Given the description of an element on the screen output the (x, y) to click on. 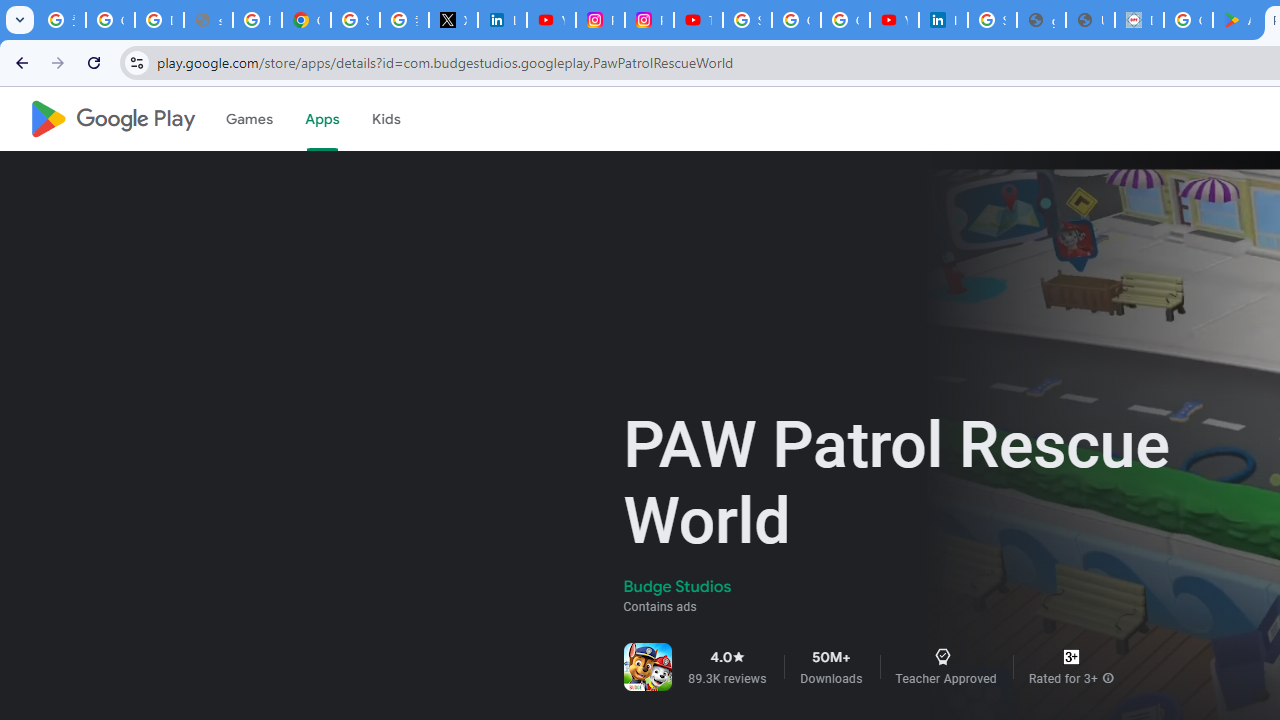
Android Apps on Google Play (1237, 20)
X (452, 20)
Sign in - Google Accounts (355, 20)
LinkedIn Privacy Policy (502, 20)
